Given the description of an element on the screen output the (x, y) to click on. 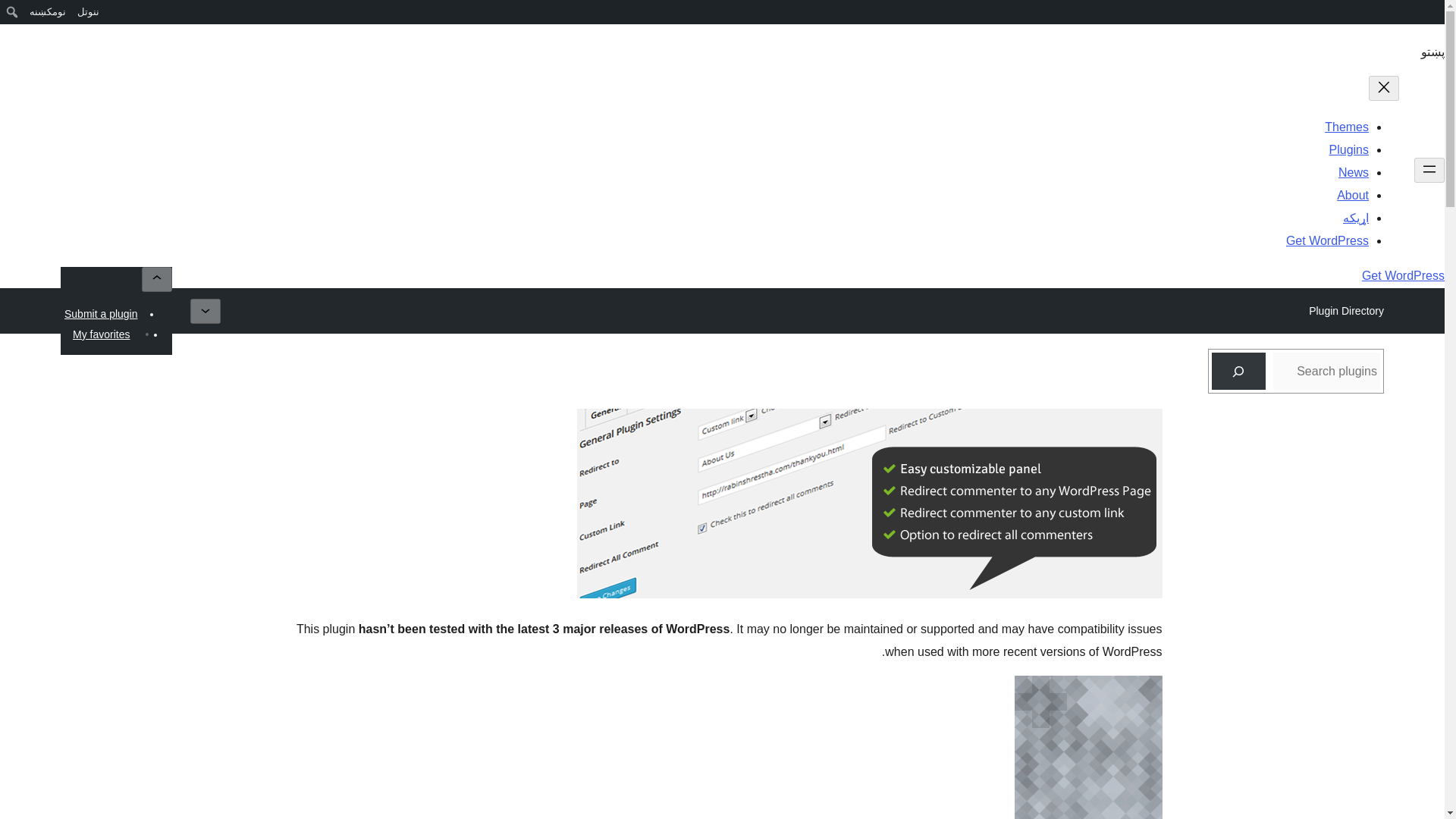
Plugin Directory (1345, 311)
Submit a plugin (101, 313)
About (1352, 195)
Get WordPress (1326, 240)
My favorites (100, 333)
News (1353, 172)
Themes (1346, 126)
Plugins (1348, 149)
